Given the description of an element on the screen output the (x, y) to click on. 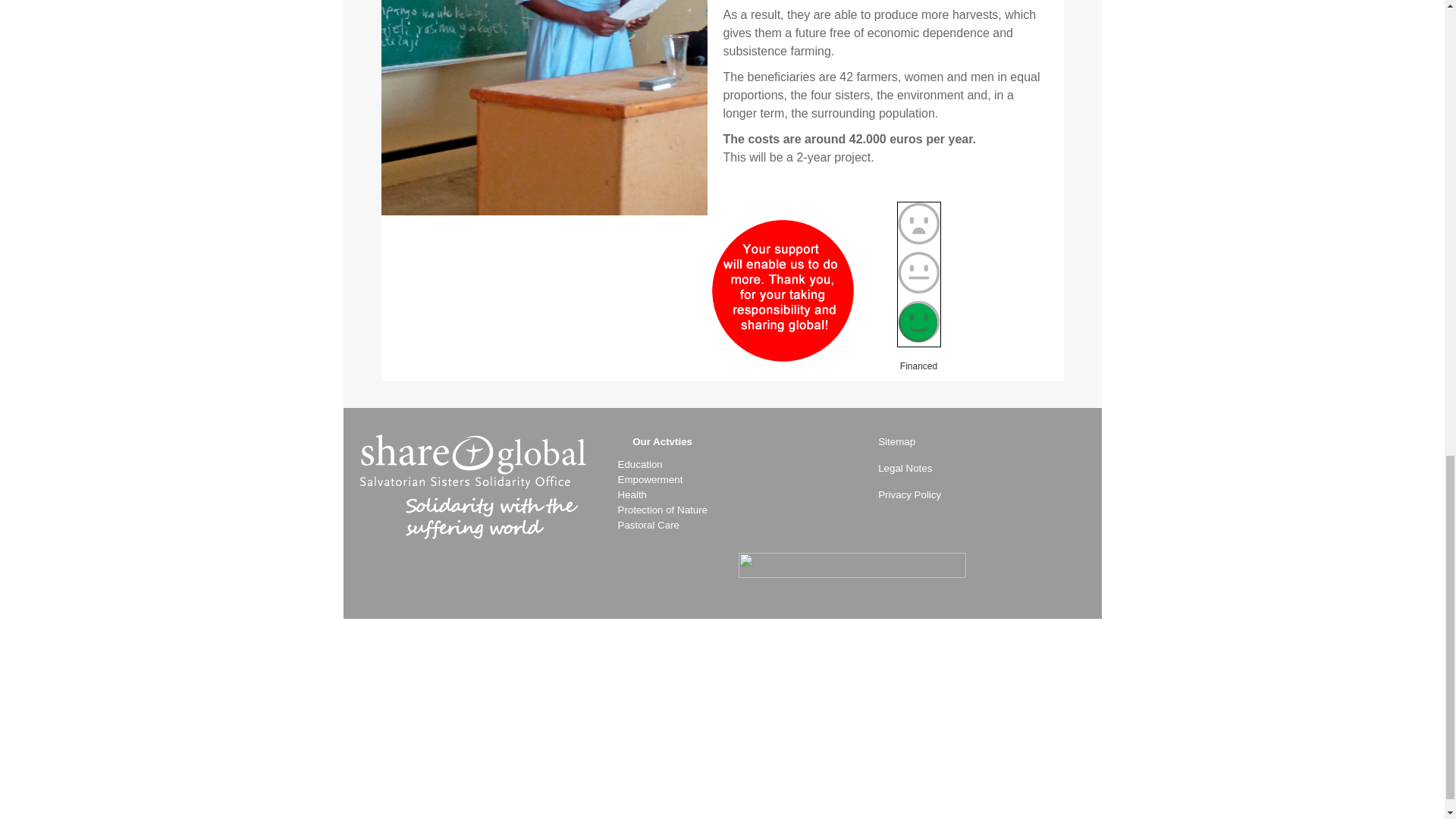
Health (631, 494)
Protection of Nature (662, 509)
Privacy Policy (901, 494)
Empowerment (649, 479)
Education (639, 464)
Pastoral Care (648, 524)
Legal Notes (897, 468)
Sitemap (889, 450)
